Given the description of an element on the screen output the (x, y) to click on. 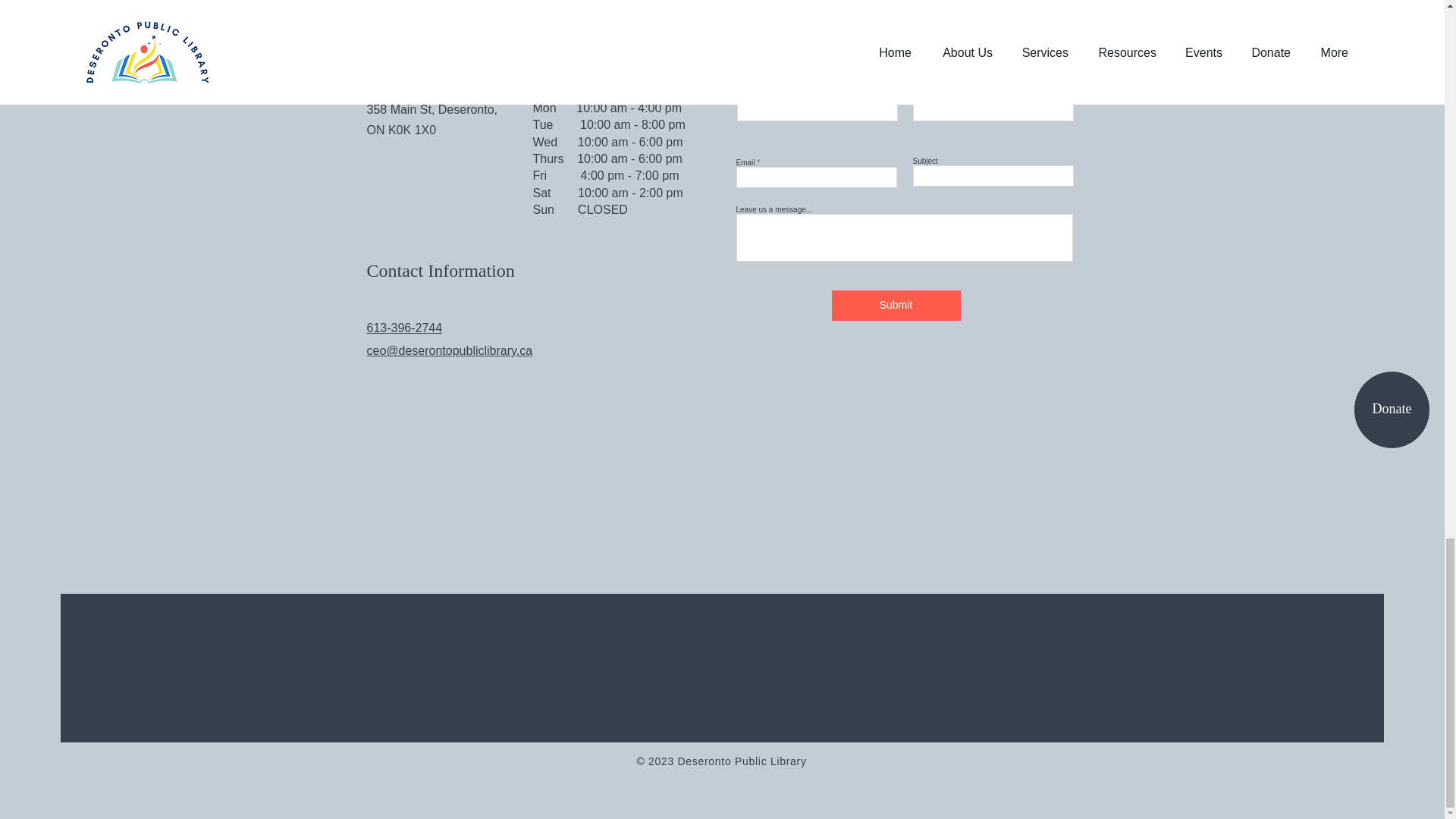
Submit (895, 305)
613-396-2744 (404, 327)
